Given the description of an element on the screen output the (x, y) to click on. 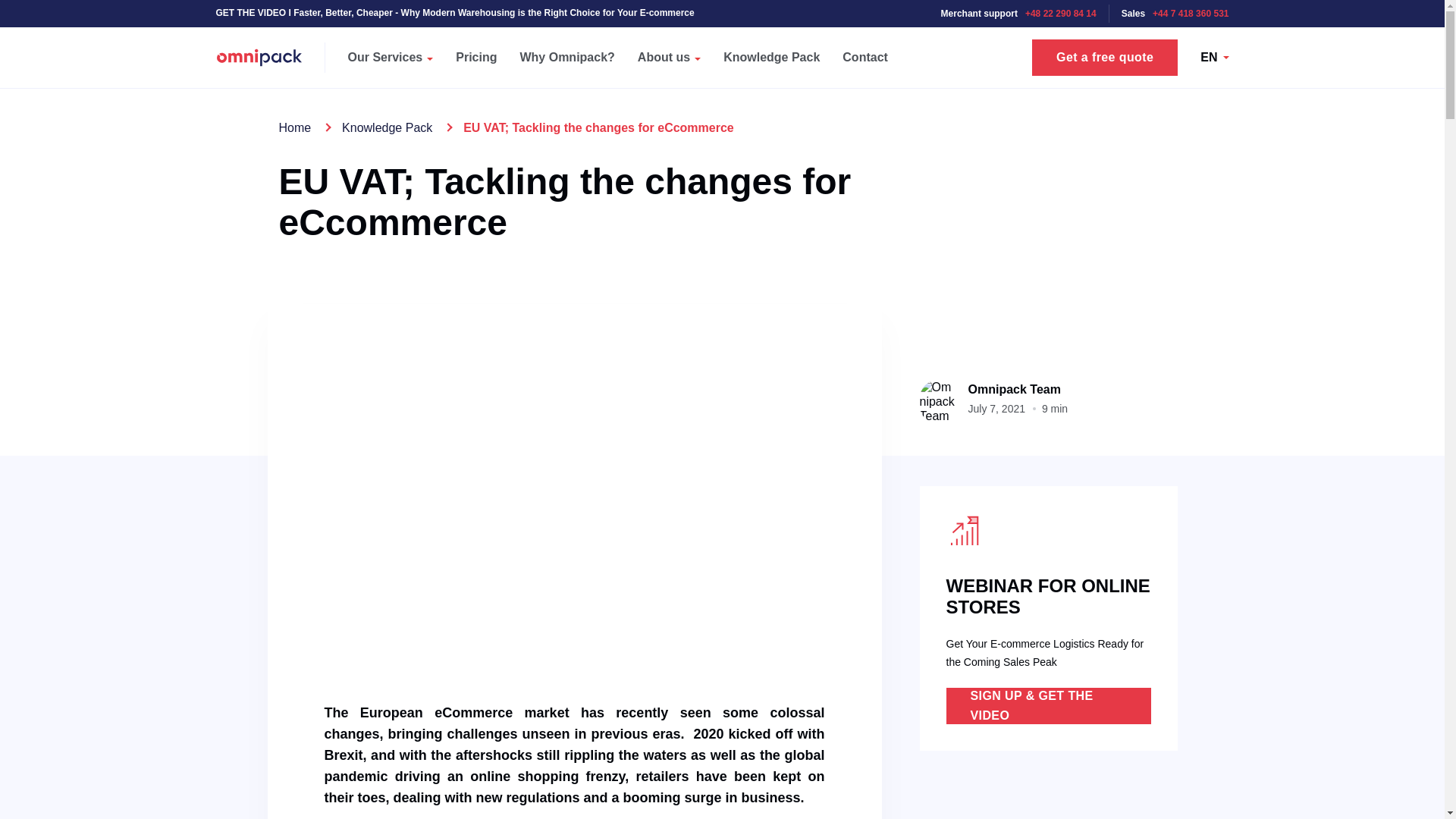
Home (295, 127)
Our team (498, 45)
Testimonials (947, 45)
Contact (865, 57)
Knowledge Pack (771, 57)
Pricing (476, 57)
Our Services (390, 57)
Why Omnipack? (567, 57)
About us (668, 57)
Get a free quote (1104, 57)
Goods inbound (248, 10)
Case studies (717, 45)
Knowledge Pack (387, 127)
Returns (702, 10)
